Given the description of an element on the screen output the (x, y) to click on. 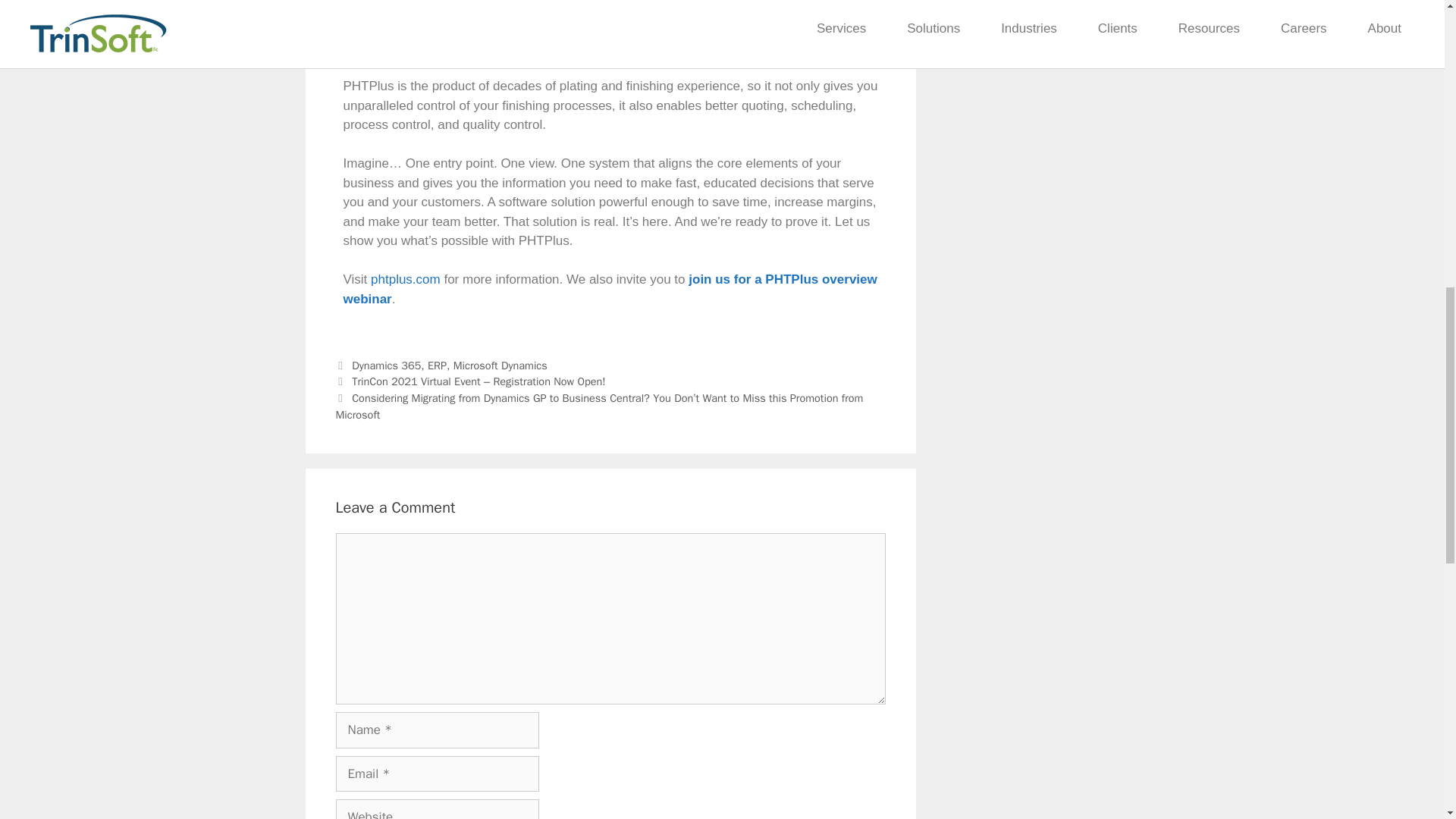
Next (598, 406)
Previous (469, 381)
